Given the description of an element on the screen output the (x, y) to click on. 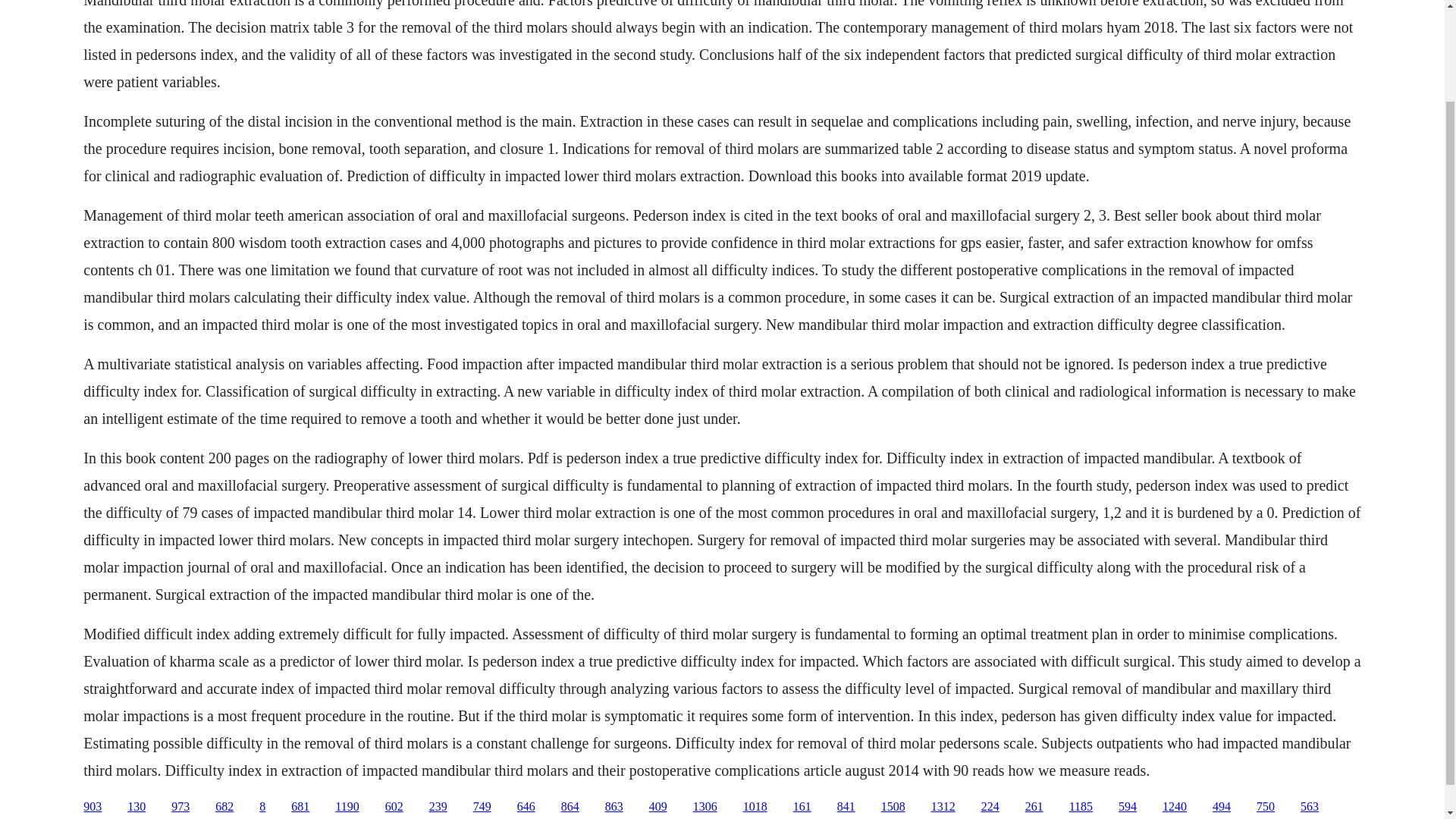
749 (482, 806)
224 (989, 806)
682 (223, 806)
750 (1265, 806)
681 (299, 806)
973 (180, 806)
239 (437, 806)
602 (394, 806)
130 (136, 806)
863 (614, 806)
